Given the description of an element on the screen output the (x, y) to click on. 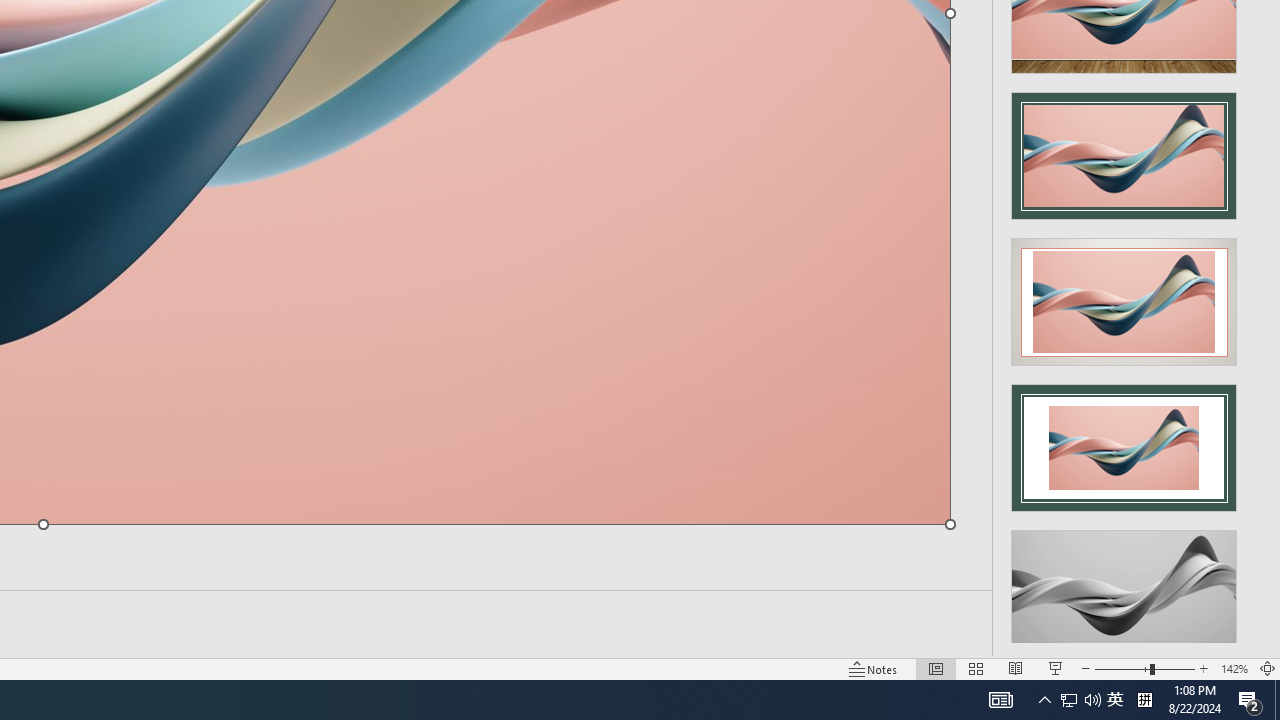
Zoom 142% (1234, 668)
